Given the description of an element on the screen output the (x, y) to click on. 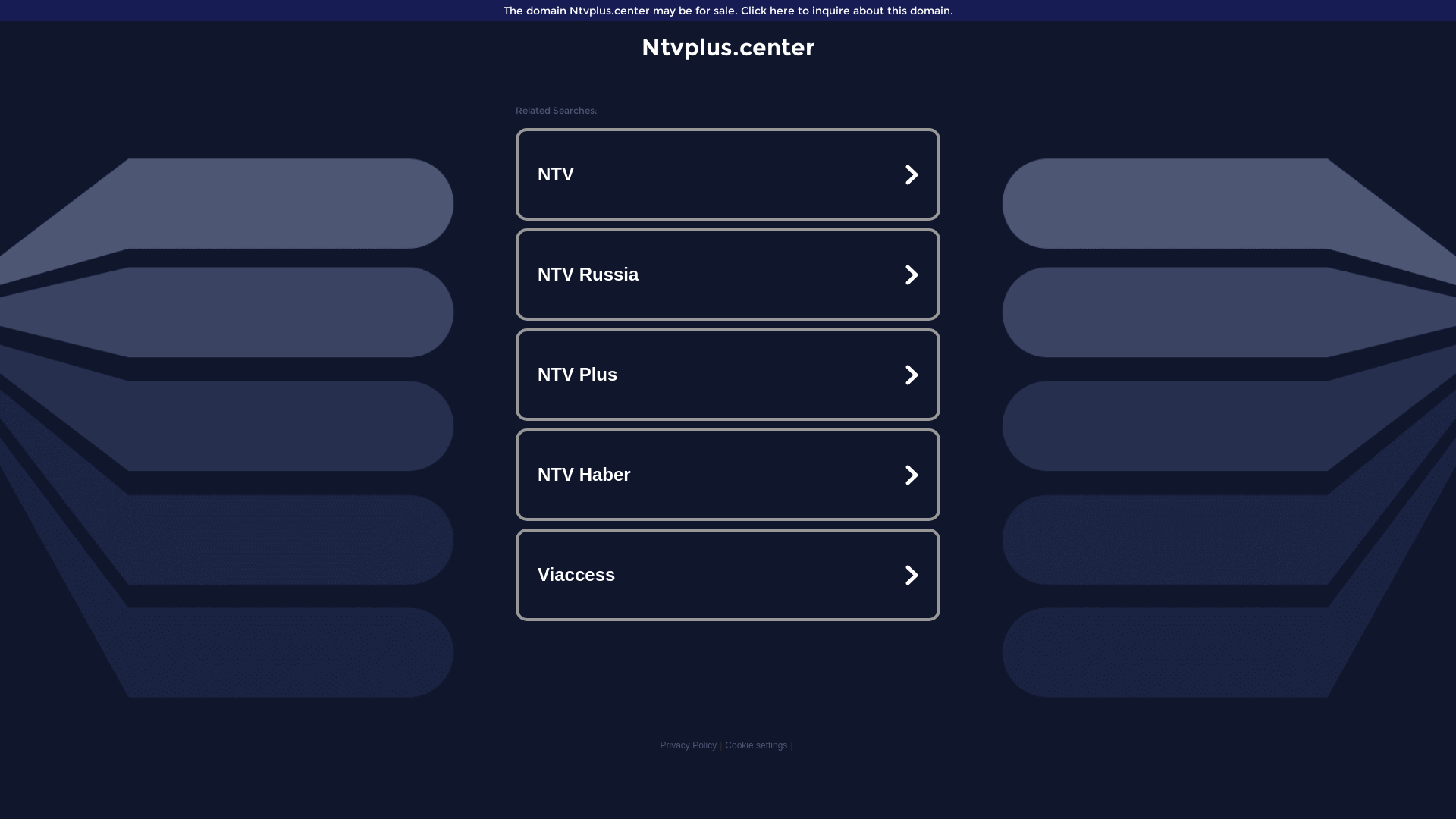
Privacy Policy Element type: text (687, 745)
NTV Plus Element type: text (727, 374)
NTV Russia Element type: text (727, 274)
Ntvplus.center Element type: text (727, 47)
Viaccess Element type: text (727, 574)
Cookie settings Element type: text (755, 745)
NTV Element type: text (727, 174)
NTV Haber Element type: text (727, 474)
